Given the description of an element on the screen output the (x, y) to click on. 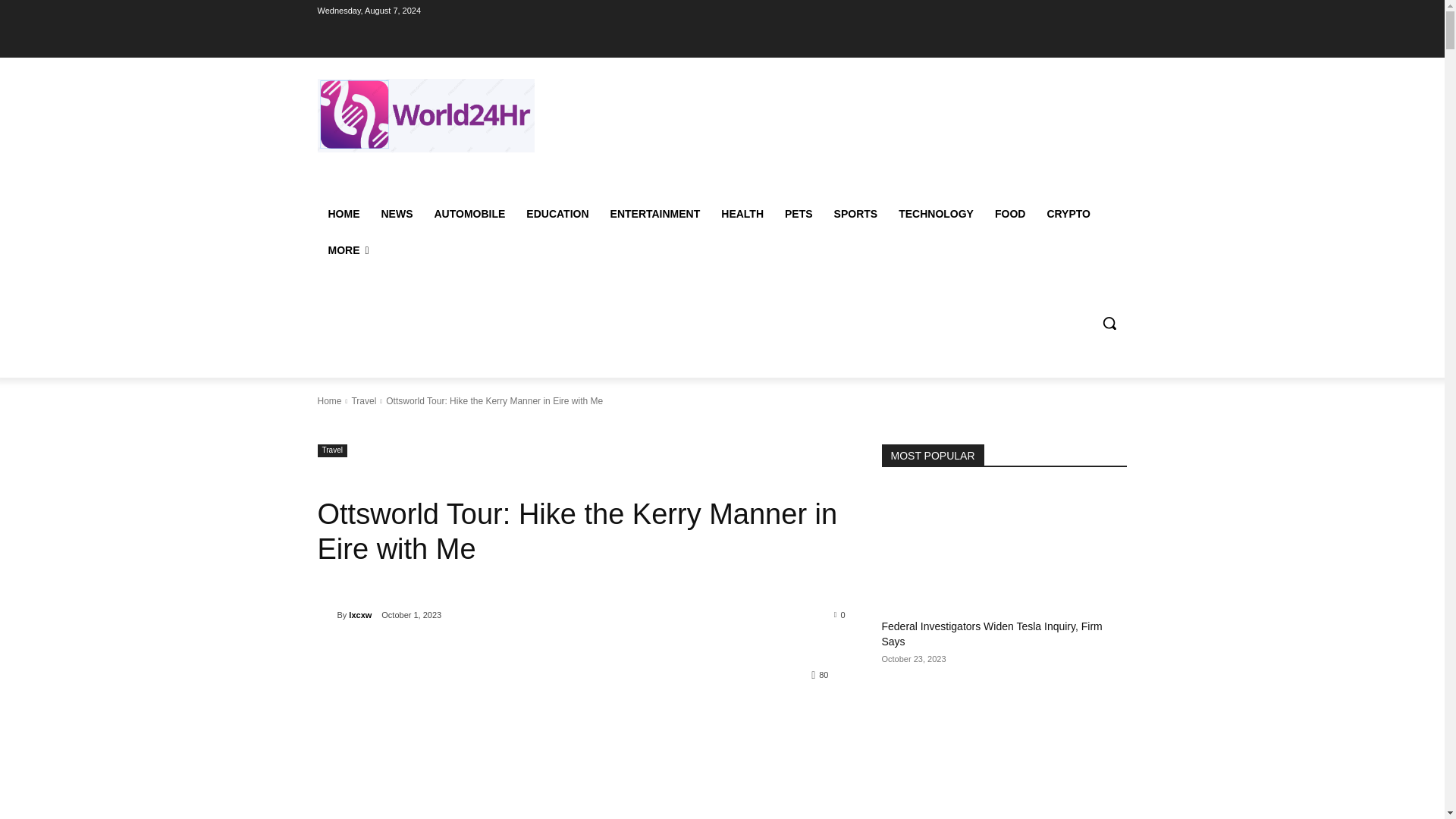
View all posts in Travel (362, 400)
EDUCATION (556, 213)
ENTERTAINMENT (655, 213)
lxcxw (326, 614)
AUTOMOBILE (469, 213)
NEWS (396, 213)
HEALTH (742, 213)
HOME (343, 213)
